Given the description of an element on the screen output the (x, y) to click on. 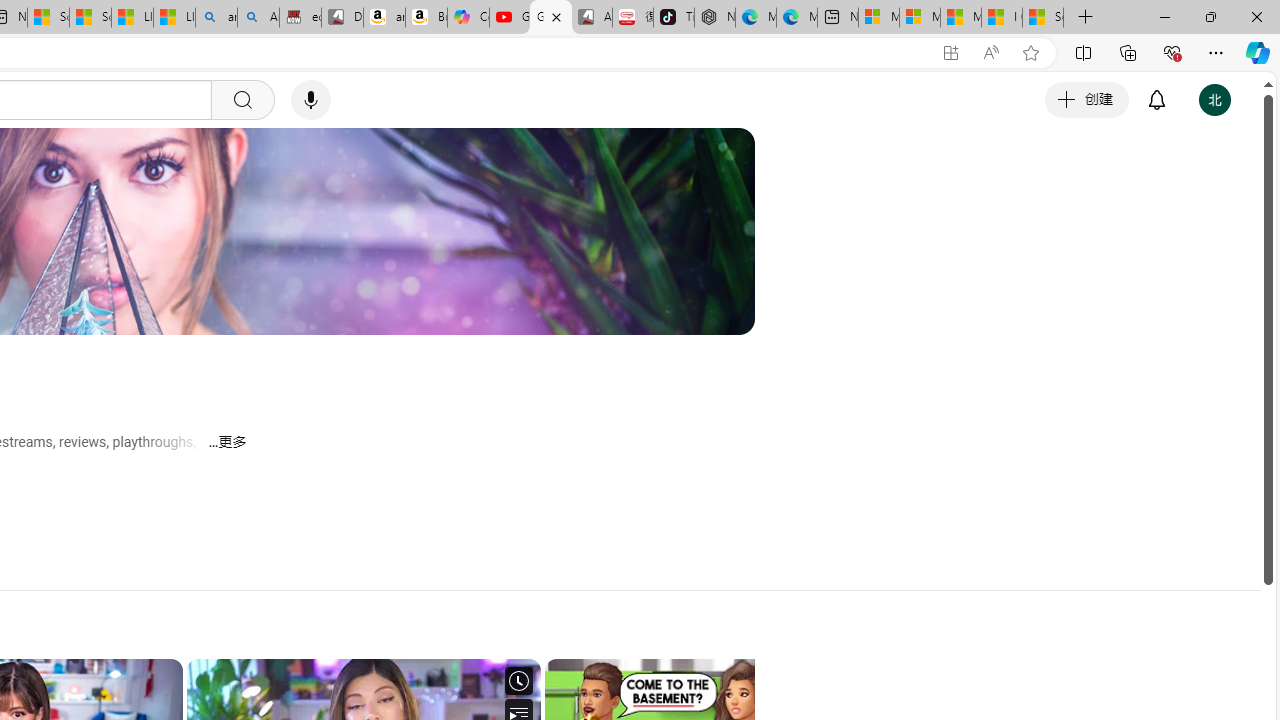
App available. Install YouTube (950, 53)
TikTok (673, 17)
amazon.in/dp/B0CX59H5W7/?tag=gsmcom05-21 (383, 17)
